Given the description of an element on the screen output the (x, y) to click on. 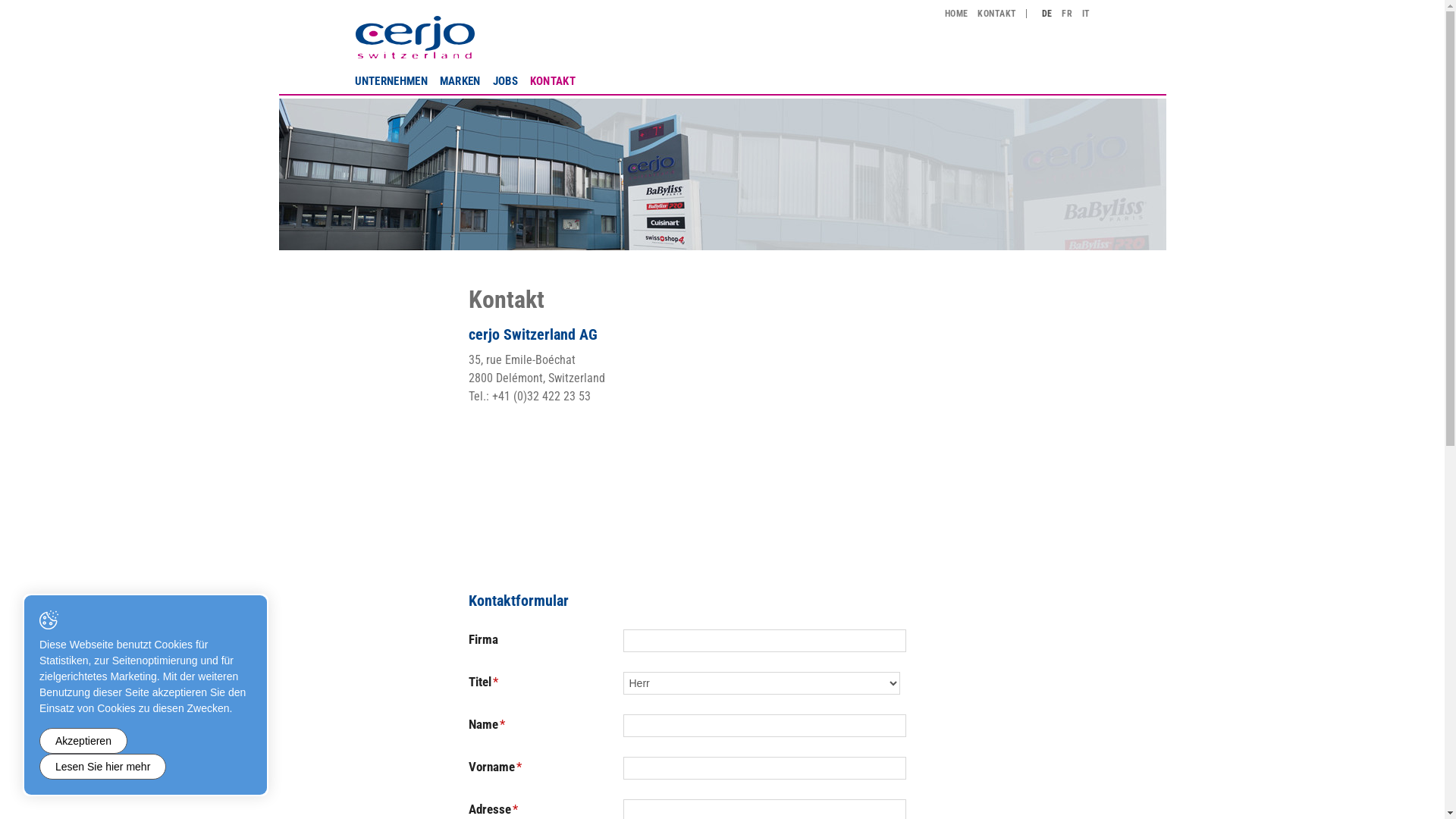
HOME Element type: text (956, 13)
FR Element type: text (1066, 13)
JOBS Element type: text (505, 80)
cerjo Switzerland AG Element type: text (414, 37)
DE Element type: text (1046, 13)
IT Element type: text (1086, 13)
KONTAKT Element type: text (552, 80)
UNTERNEHMEN Element type: text (393, 80)
Lesen Sie hier mehr Element type: text (102, 766)
MARKEN Element type: text (459, 80)
Akzeptieren Element type: text (83, 740)
KONTAKT Element type: text (996, 13)
